Given the description of an element on the screen output the (x, y) to click on. 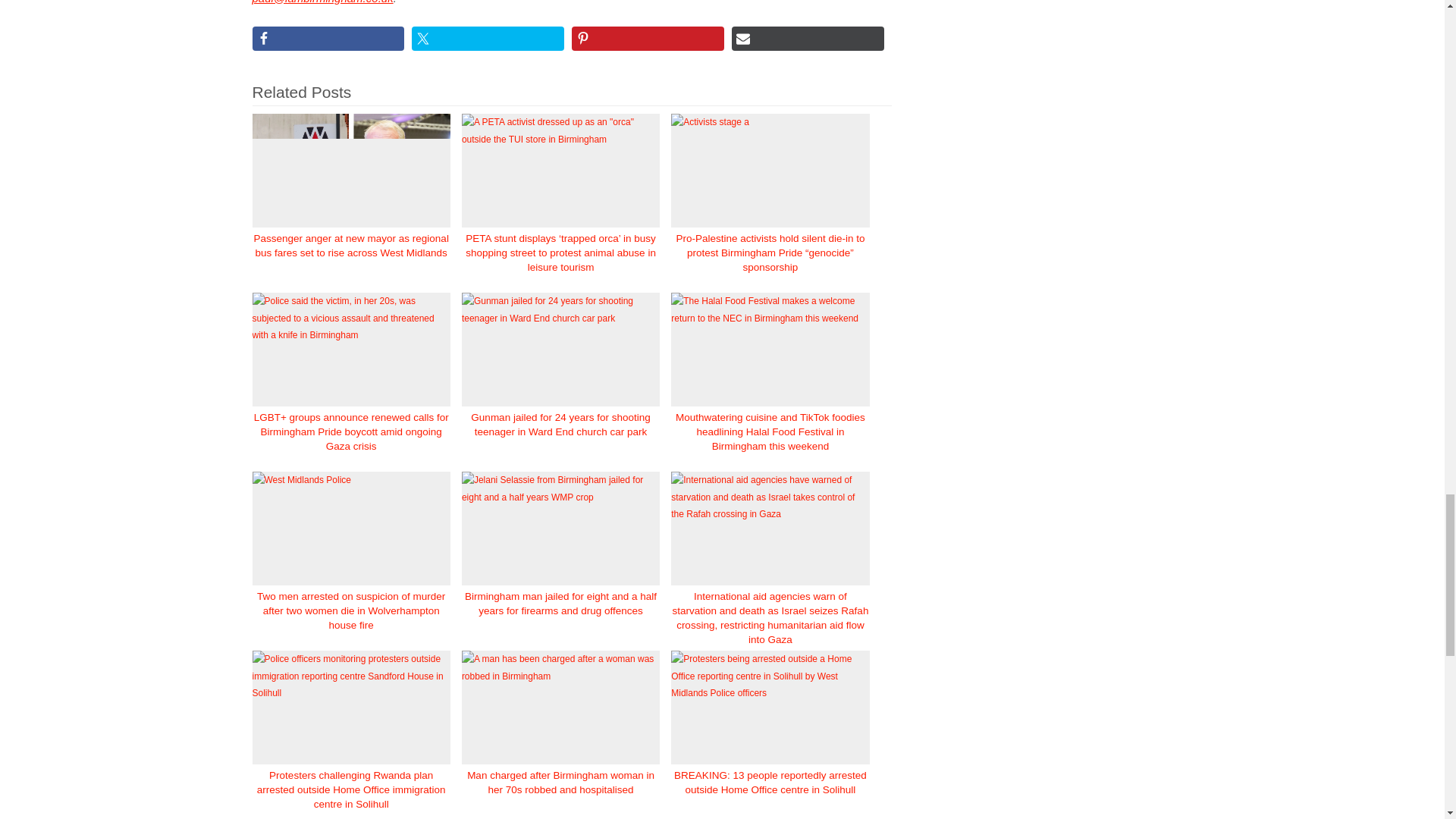
Share on Twitter (488, 38)
Share via Email (807, 38)
Share on Facebook (327, 38)
Share on Pinterest (647, 38)
